Given the description of an element on the screen output the (x, y) to click on. 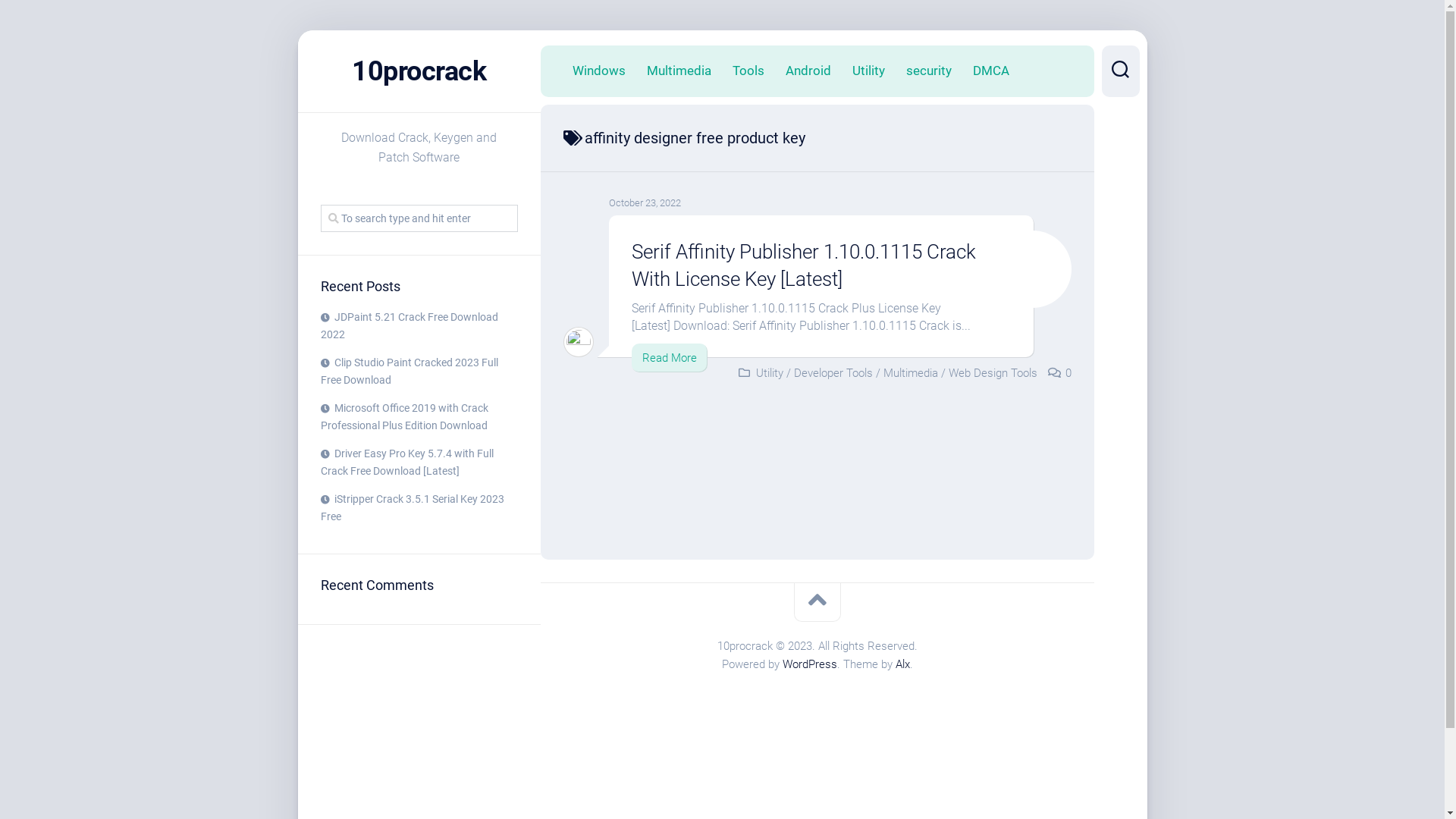
Tools Element type: text (748, 70)
Multimedia Element type: text (678, 70)
Read More Element type: text (668, 358)
DMCA Element type: text (990, 70)
Utility Element type: text (768, 372)
10procrack Element type: text (418, 71)
Utility Element type: text (868, 70)
security Element type: text (927, 70)
WordPress Element type: text (809, 664)
JDPaint 5.21 Crack Free Download 2022 Element type: text (408, 325)
Web Design Tools Element type: text (991, 372)
iStripper Crack 3.5.1 Serial Key 2023 Free Element type: text (411, 507)
Alx Element type: text (901, 664)
0 Element type: text (1067, 372)
Multimedia Element type: text (909, 372)
Clip Studio Paint Cracked 2023 Full Free Download Element type: text (408, 371)
Android Element type: text (808, 70)
Developer Tools Element type: text (832, 372)
Windows Element type: text (597, 70)
